Given the description of an element on the screen output the (x, y) to click on. 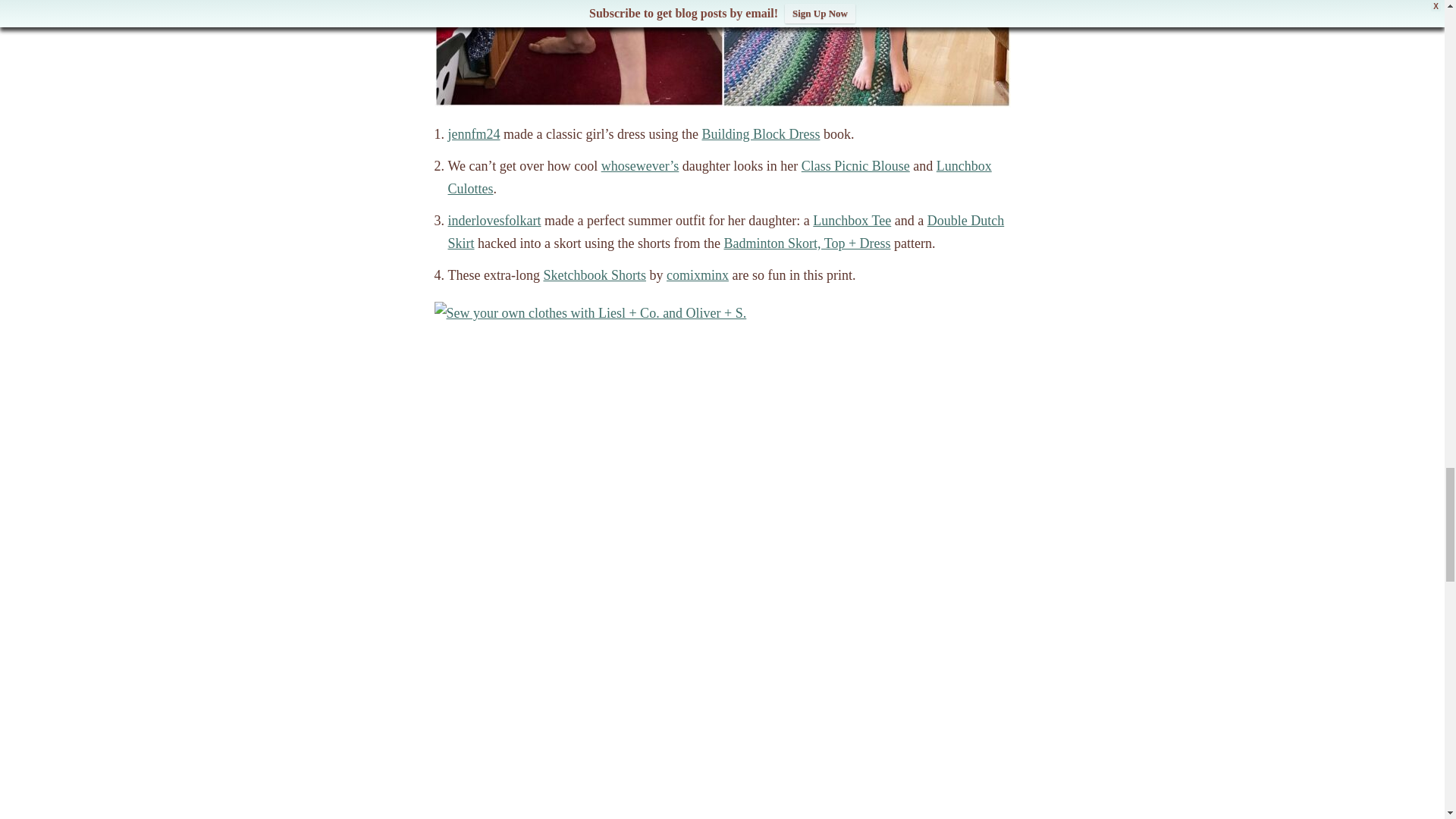
Building Block Dress (760, 133)
Lunchbox Culottes (718, 177)
Lunchbox Tee (851, 220)
Class Picnic Blouse (856, 165)
jennfm24 (472, 133)
Sketchbook Shorts (594, 274)
inderlovesfolkart (493, 220)
Double Dutch Skirt (725, 231)
